Given the description of an element on the screen output the (x, y) to click on. 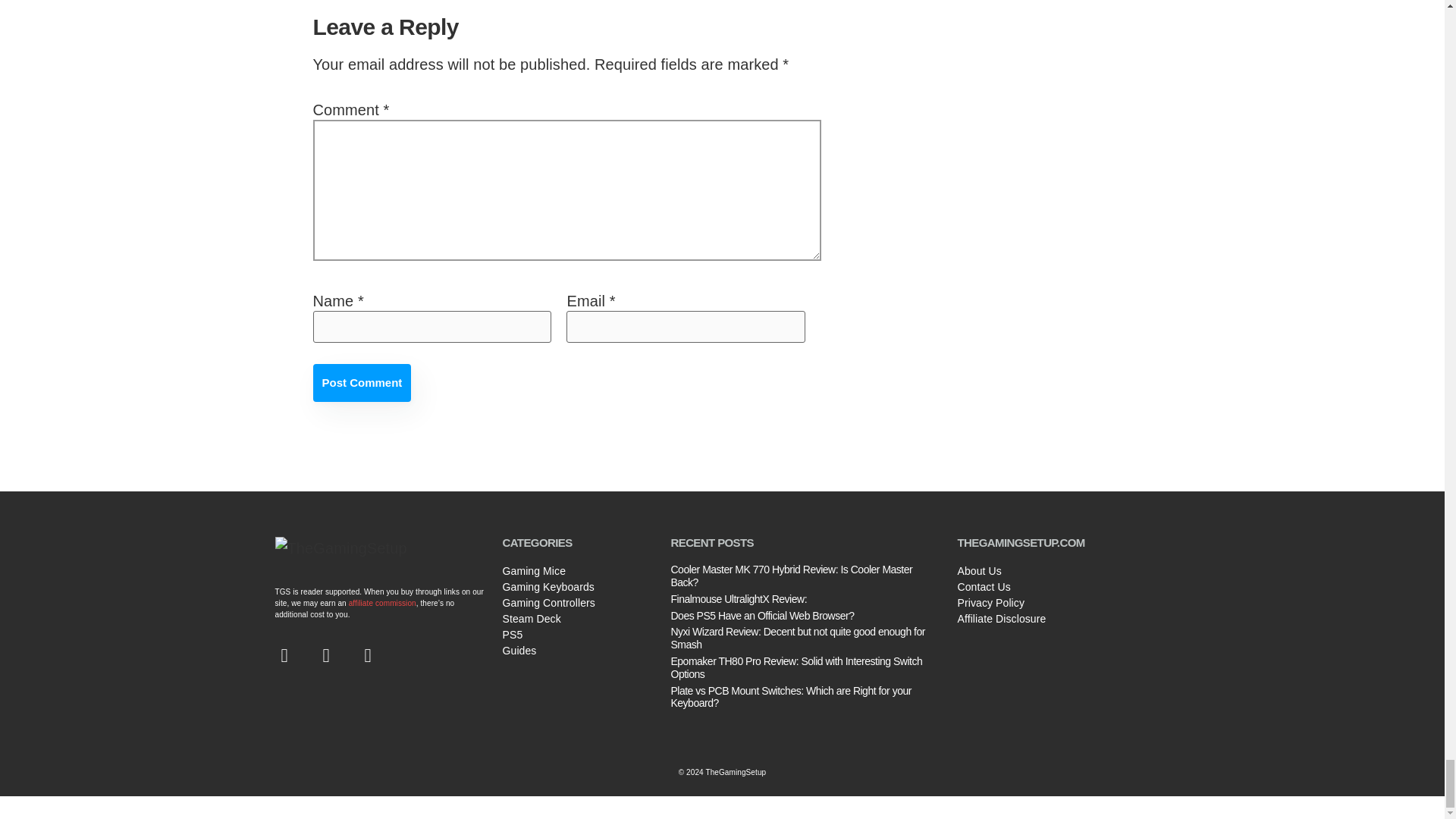
Post Comment (361, 382)
Post Comment (361, 382)
